Given the description of an element on the screen output the (x, y) to click on. 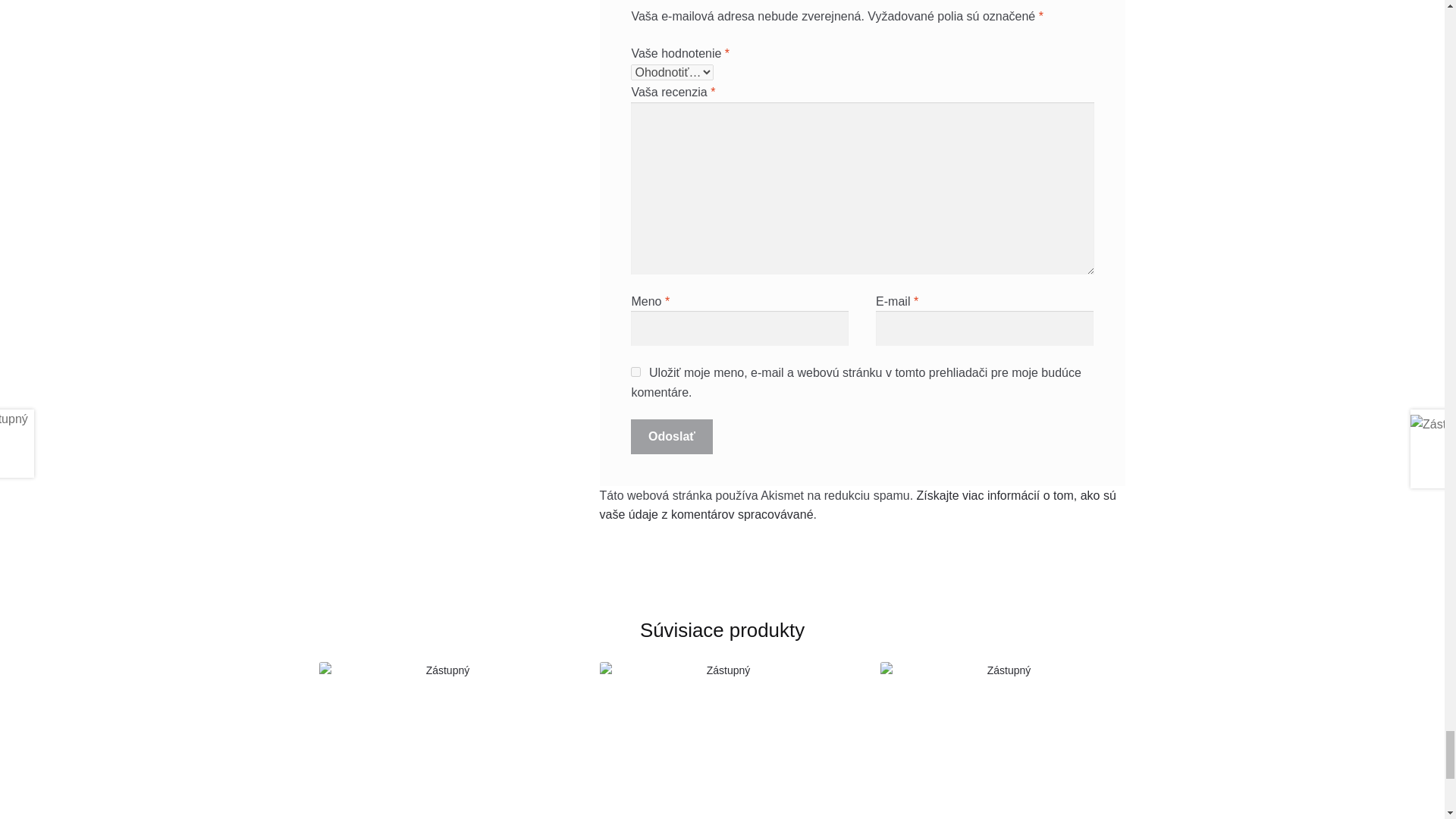
yes (635, 371)
